Given the description of an element on the screen output the (x, y) to click on. 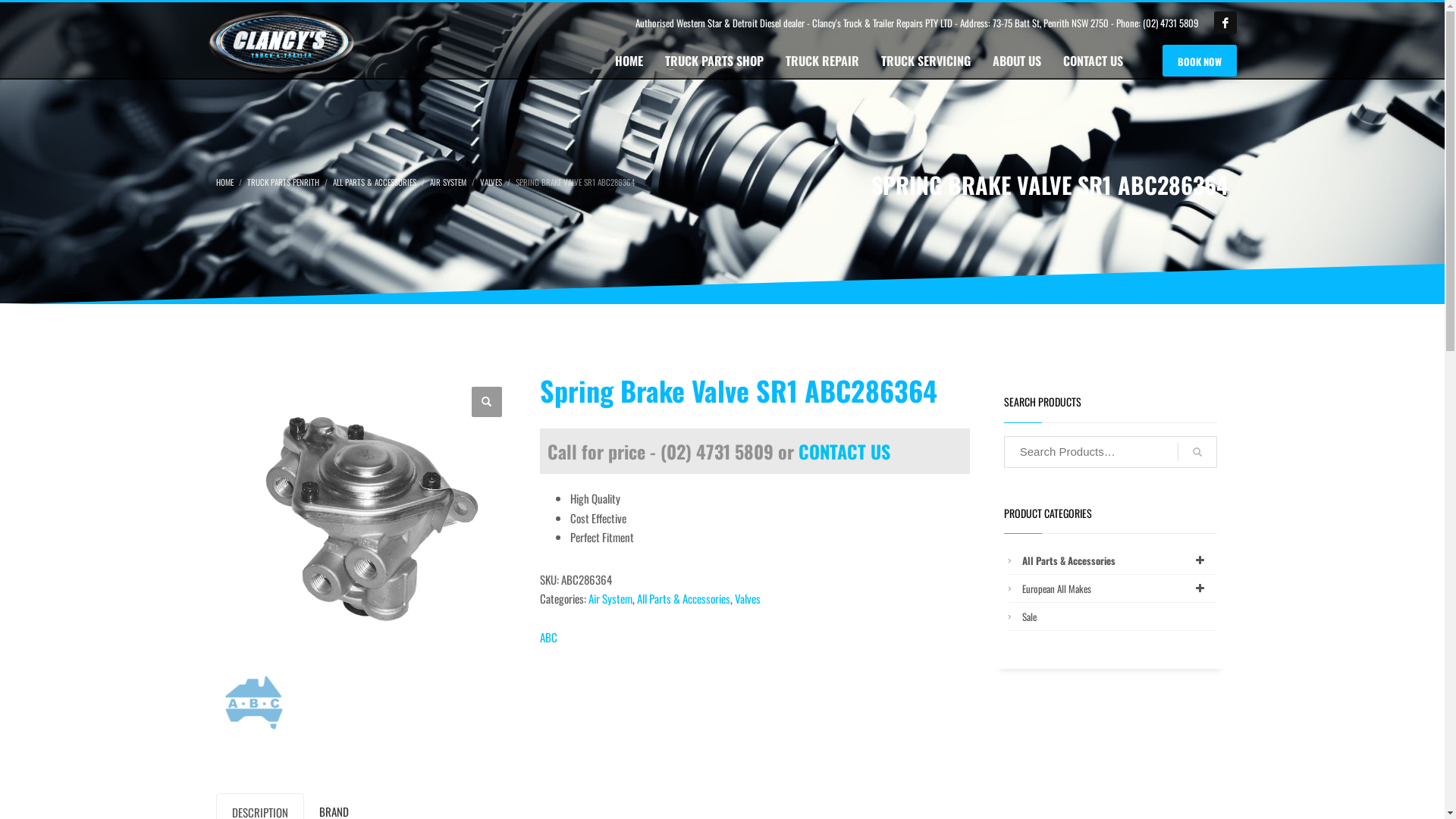
Sale Element type: text (1117, 616)
BOOK NOW Element type: text (1199, 60)
CONTACT US Element type: text (1093, 60)
ABC Element type: text (548, 637)
ALL PARTS & ACCESSORIES Element type: text (374, 181)
HOME Element type: text (628, 60)
TRUCK PARTS PENRITH Element type: text (283, 181)
TRUCK REPAIR Element type: text (822, 60)
Search Element type: text (1197, 451)
All Parts & Accessories Element type: text (1117, 560)
All Parts & Accessories Element type: text (683, 597)
ABOUT US Element type: text (1016, 60)
AIR SYSTEM Element type: text (447, 181)
Spring Brake Valve SR1 ABC286364 Element type: hover (366, 514)
Valves Element type: text (747, 597)
CONTACT US Element type: text (844, 450)
Air System Element type: text (610, 597)
TRUCK PARTS SHOP Element type: text (713, 60)
AIRBRAKE Element type: hover (253, 702)
Truck & Trailer Repairs Penrith Element type: hover (281, 41)
TRUCK SERVICING Element type: text (925, 60)
VALVES Element type: text (491, 181)
Search for: Element type: hover (1110, 451)
European All Makes Element type: text (1117, 588)
HOME Element type: text (224, 181)
